Given the description of an element on the screen output the (x, y) to click on. 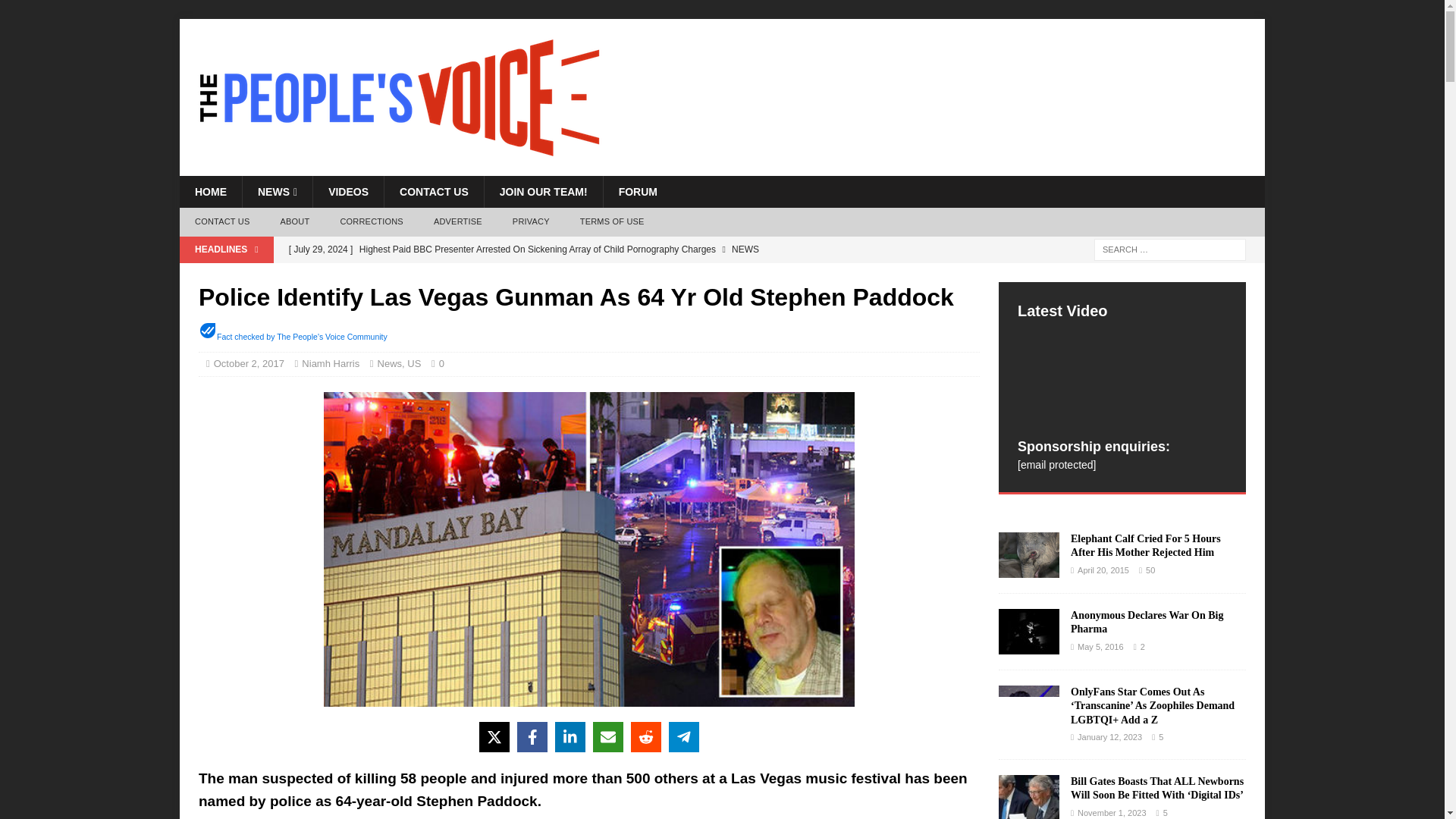
News (390, 363)
Search (56, 11)
FORUM (637, 192)
October 2, 2017 (248, 363)
HOME (210, 192)
CONTACT US (221, 222)
PRIVACY (530, 222)
ABOUT (294, 222)
Fact checked by The People's Voice Community (301, 336)
ADVERTISE (458, 222)
Niamh Harris (330, 363)
VIDEOS (348, 192)
